Given the description of an element on the screen output the (x, y) to click on. 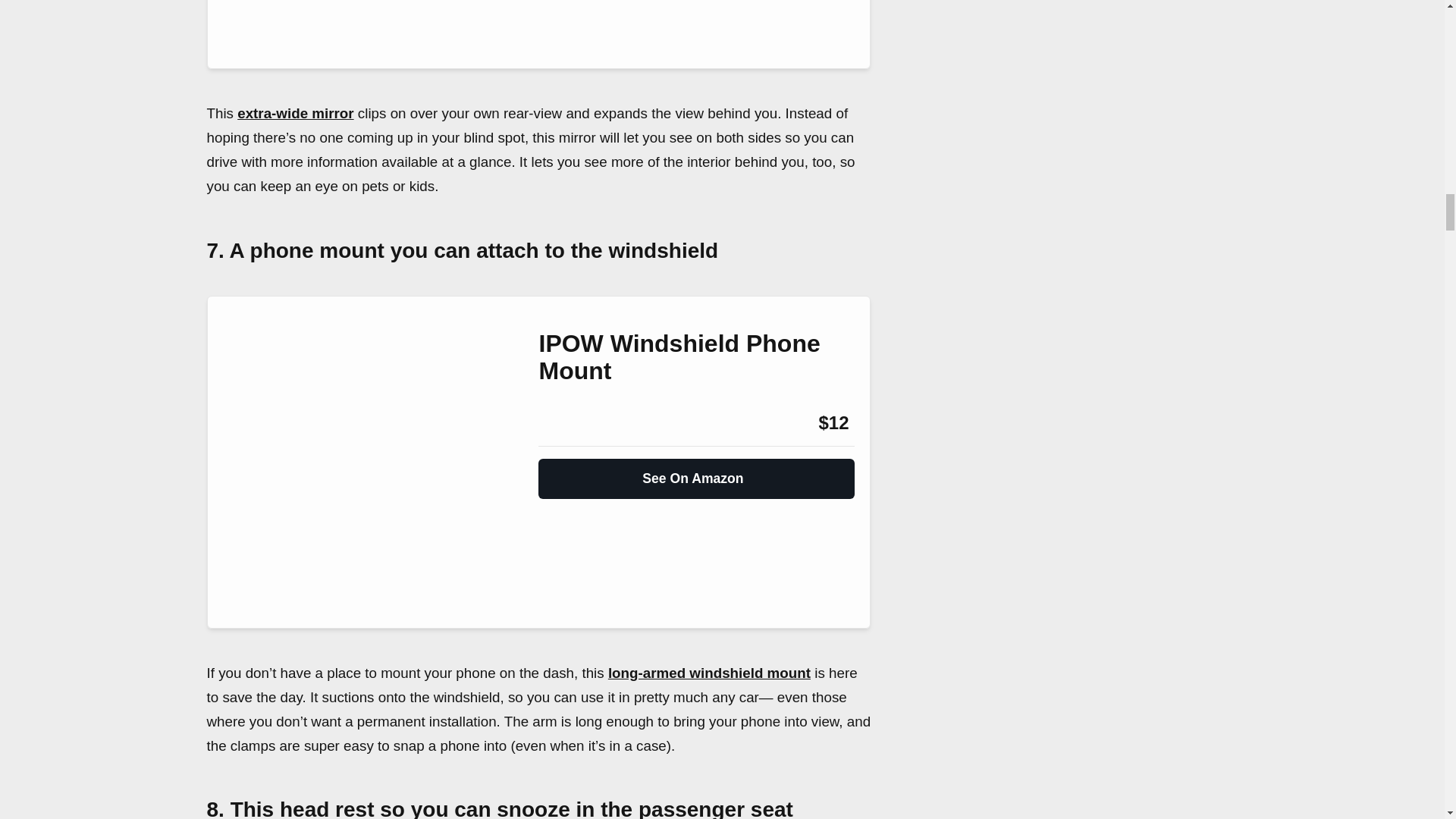
Amazon (579, 423)
long-armed windshield mount (709, 672)
See On Amazon (696, 471)
extra-wide mirror (295, 113)
